Given the description of an element on the screen output the (x, y) to click on. 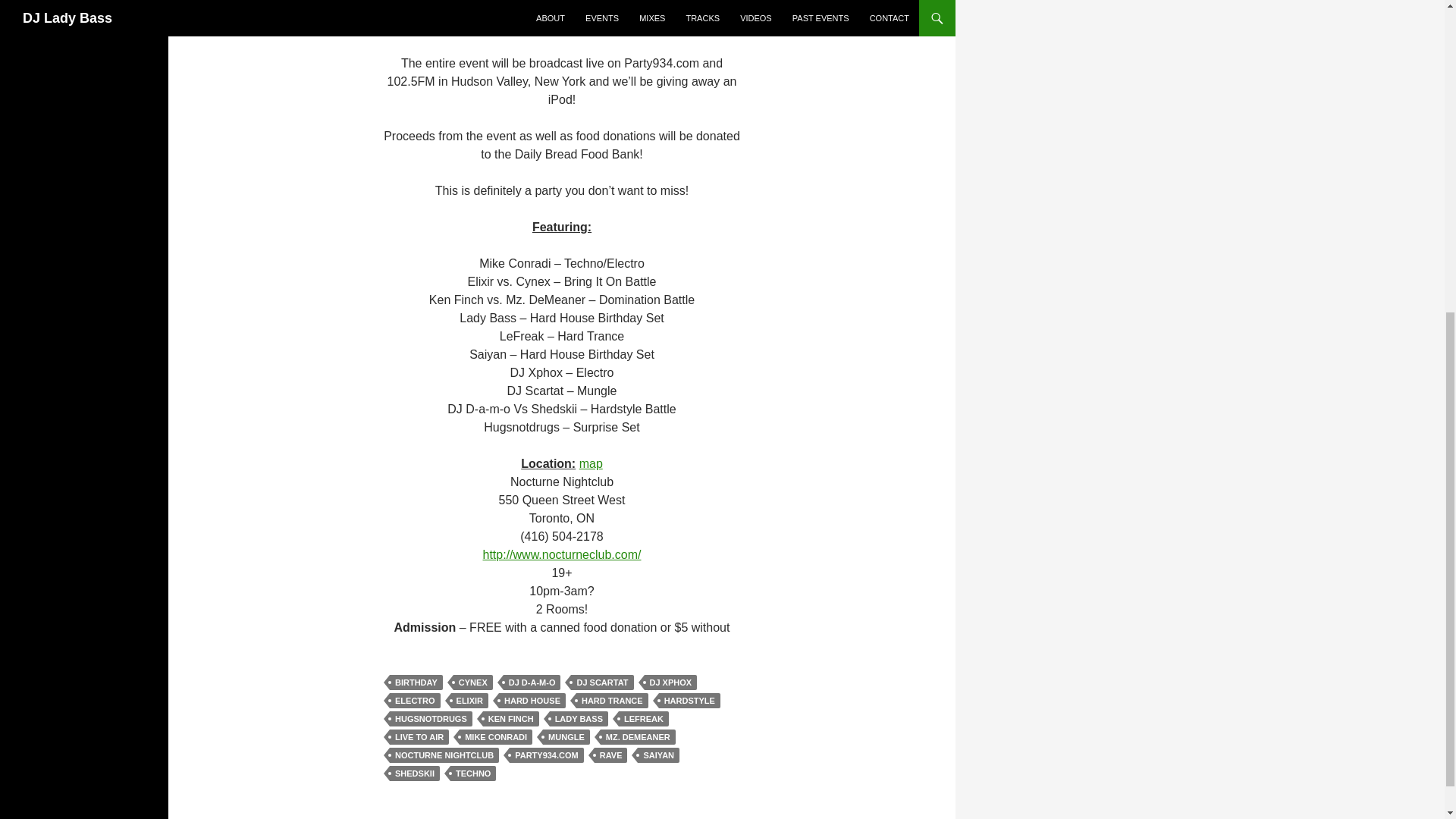
LADY BASS (579, 718)
MIKE CONRADI (496, 736)
NOCTURNE NIGHTCLUB (444, 754)
DJ SCARTAT (601, 682)
MZ. DEMEANER (637, 736)
HARD HOUSE (532, 700)
DJ XPHOX (671, 682)
map (590, 463)
RAVE (610, 754)
CYNEX (472, 682)
HARDSTYLE (689, 700)
BIRTHDAY (416, 682)
LIVE TO AIR (419, 736)
LEFREAK (643, 718)
MUNGLE (566, 736)
